Given the description of an element on the screen output the (x, y) to click on. 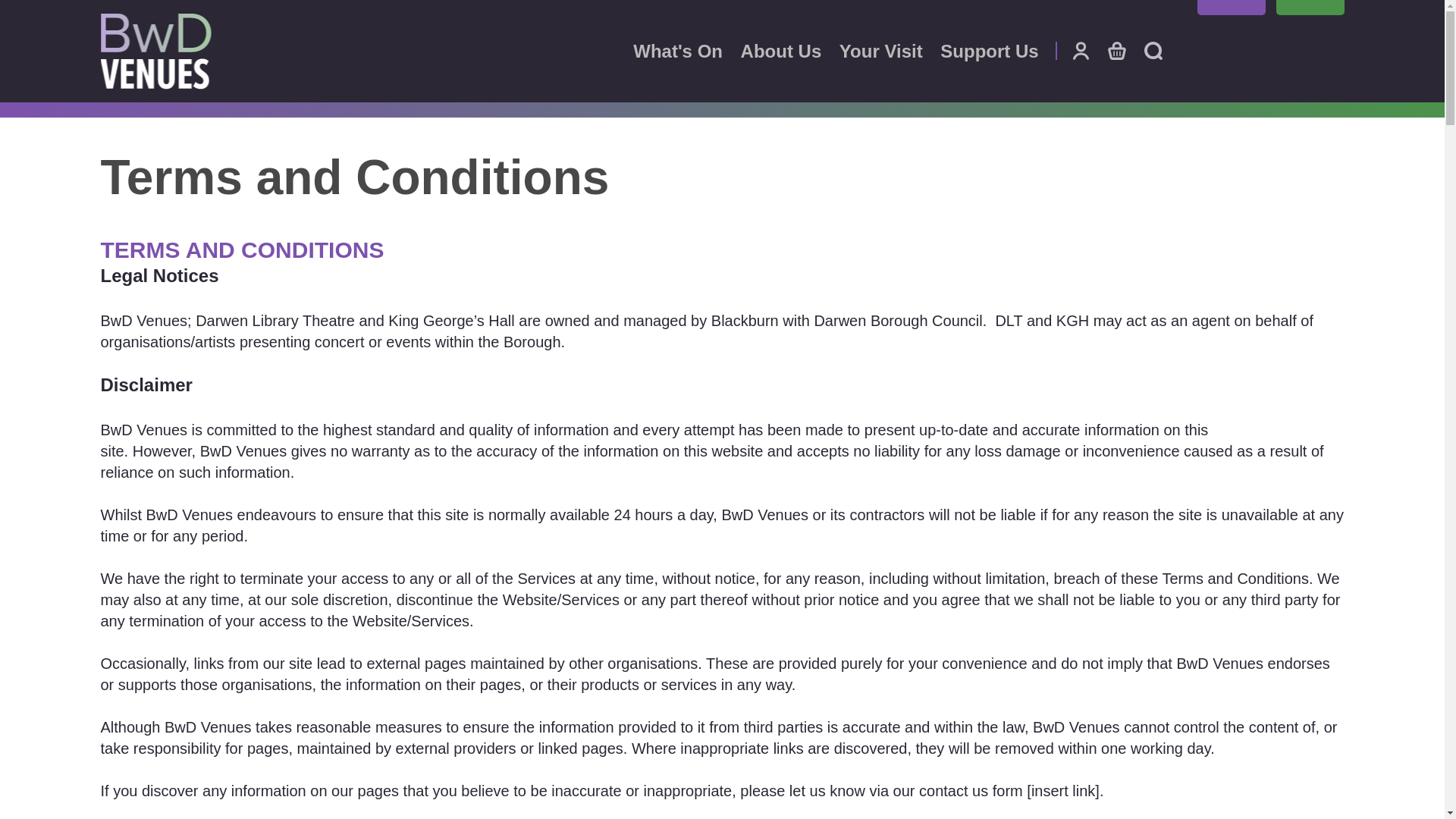
BwD Venues (155, 51)
Your Visit (881, 51)
About Us (781, 51)
Support Us (989, 51)
Account (1080, 49)
Basket (1116, 49)
Search (1151, 49)
What's On (677, 51)
